Given the description of an element on the screen output the (x, y) to click on. 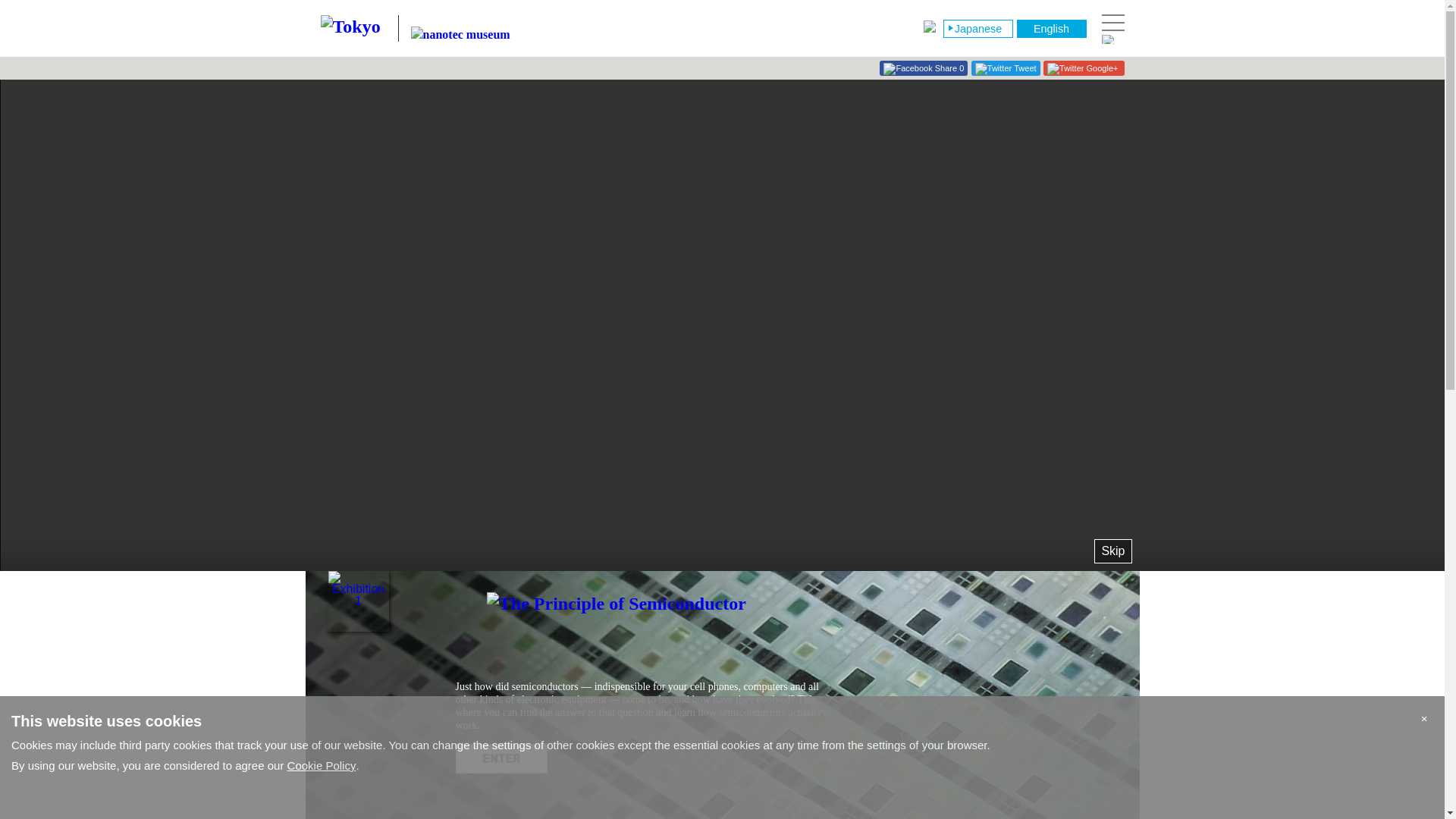
Cookie Policy (321, 765)
Share (919, 69)
Japanese (977, 28)
Tweet (1005, 69)
